Given the description of an element on the screen output the (x, y) to click on. 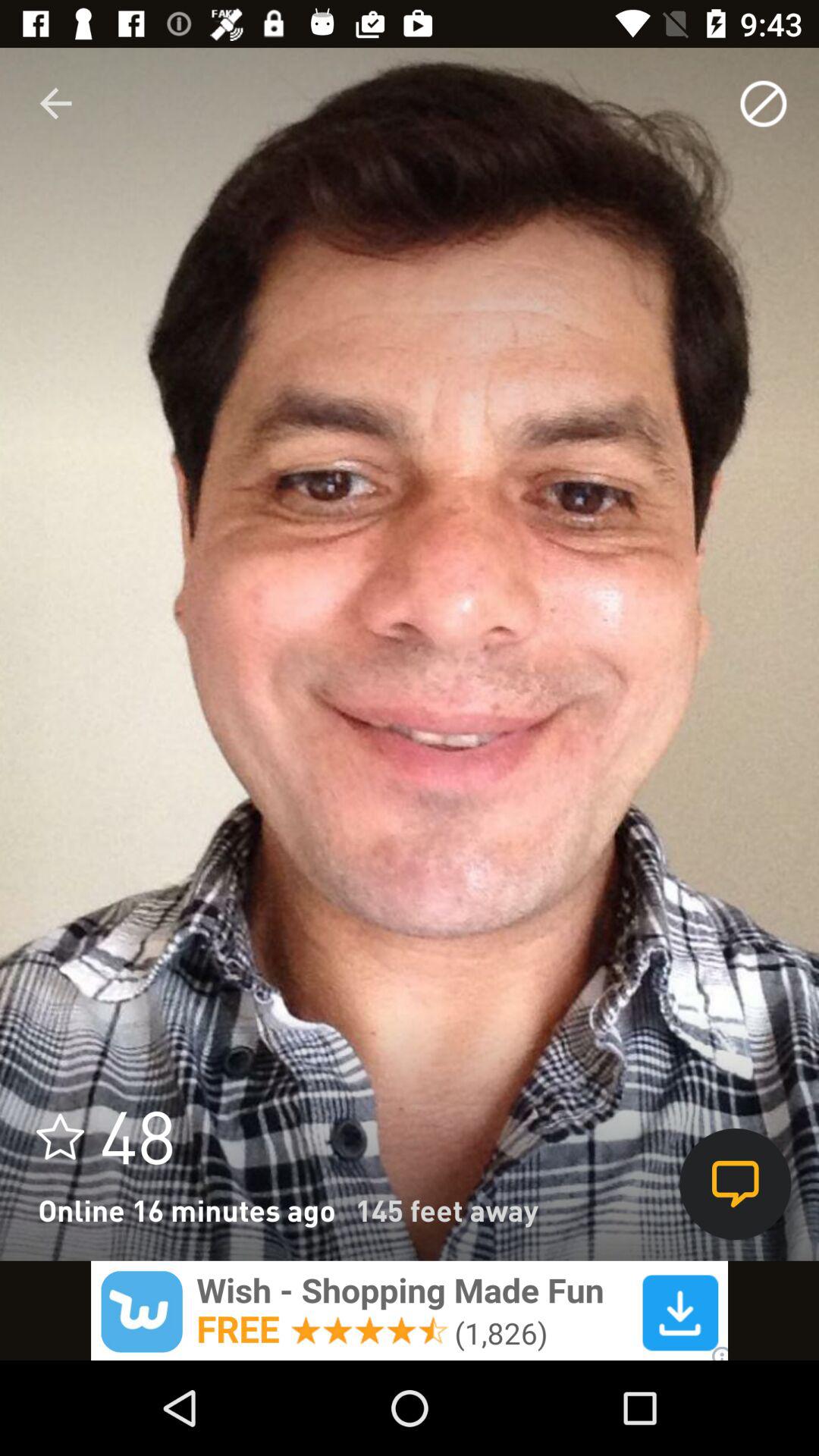
announcement (409, 1310)
